Given the description of an element on the screen output the (x, y) to click on. 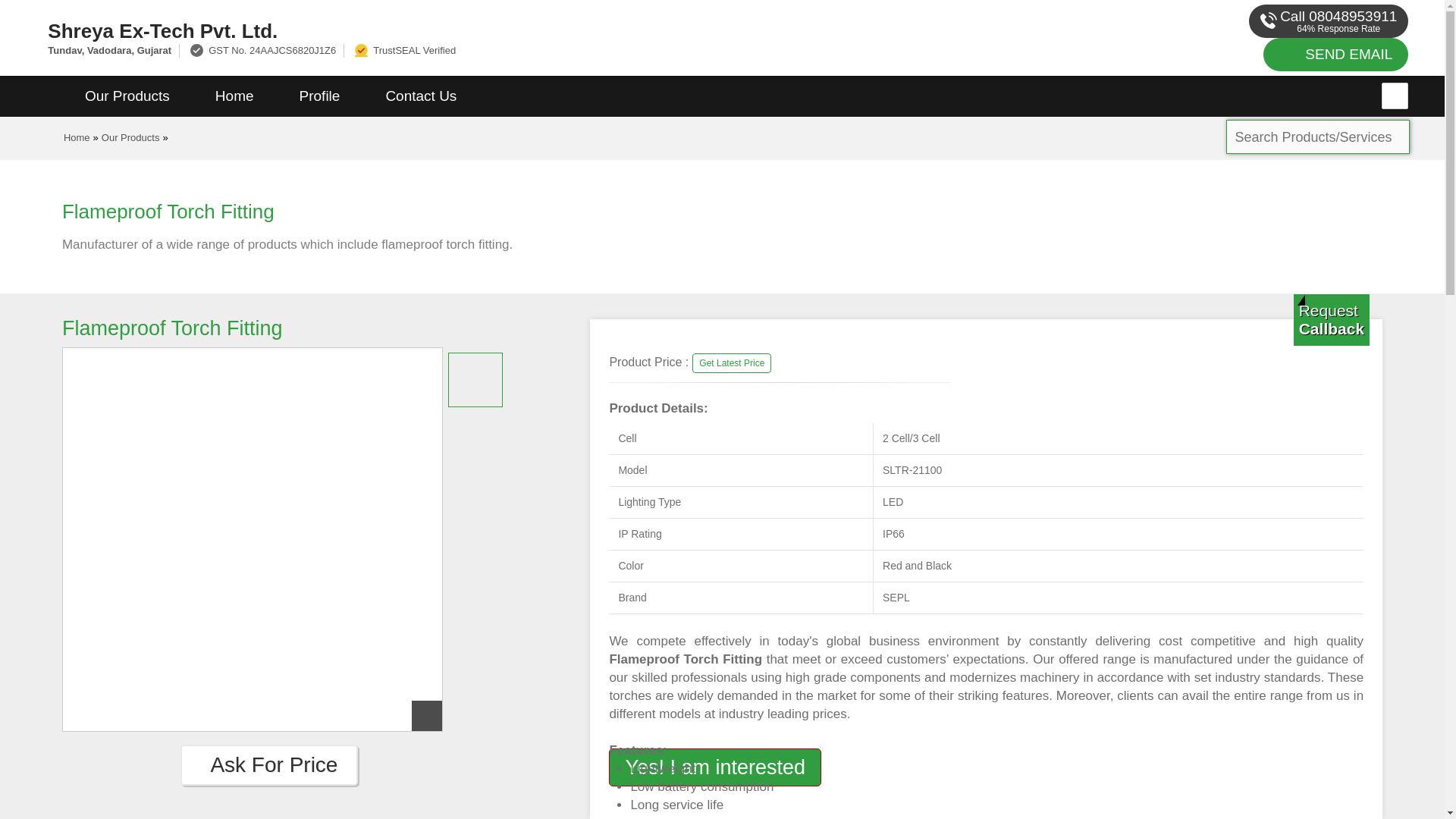
Home (234, 96)
Contact Us (420, 96)
Our Products (130, 137)
Profile (319, 96)
Get a Call from us (1332, 319)
Shreya Ex-Tech Pvt. Ltd. (485, 31)
Home (77, 137)
Our Products (127, 96)
